Given the description of an element on the screen output the (x, y) to click on. 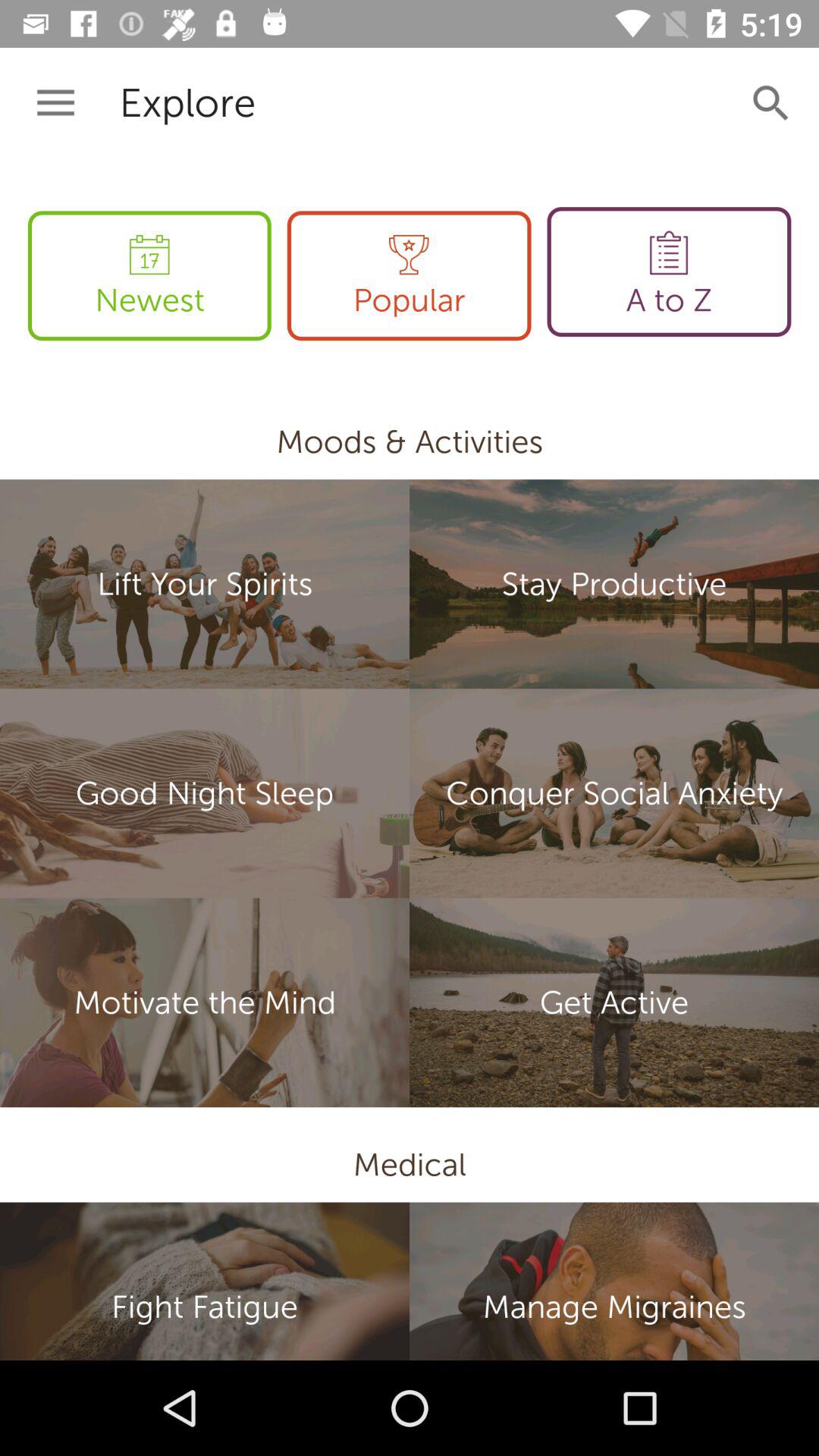
turn off the item next to newest item (409, 275)
